Given the description of an element on the screen output the (x, y) to click on. 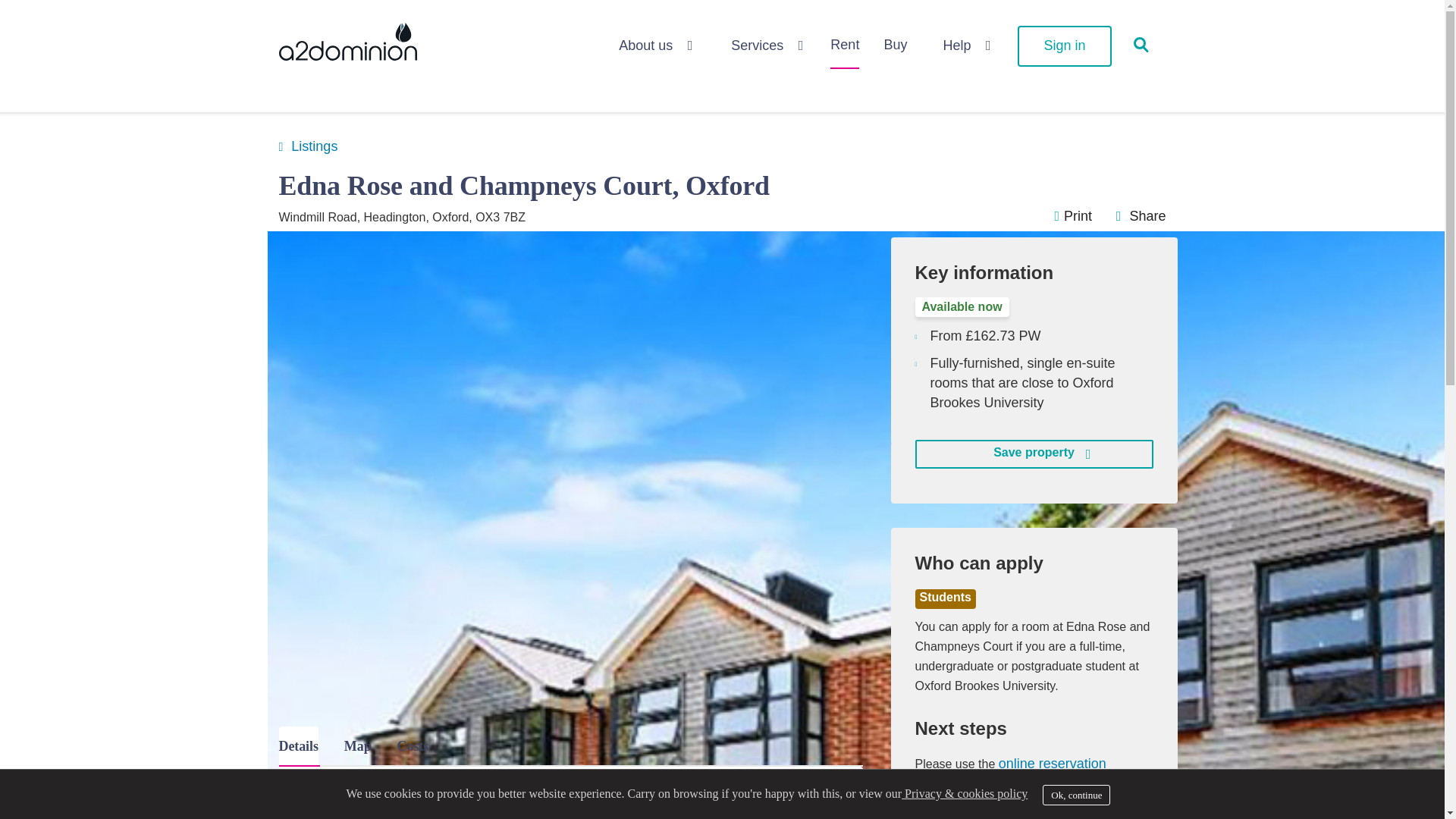
Save property (1033, 453)
Sign in (1063, 45)
About us (654, 47)
